Given the description of an element on the screen output the (x, y) to click on. 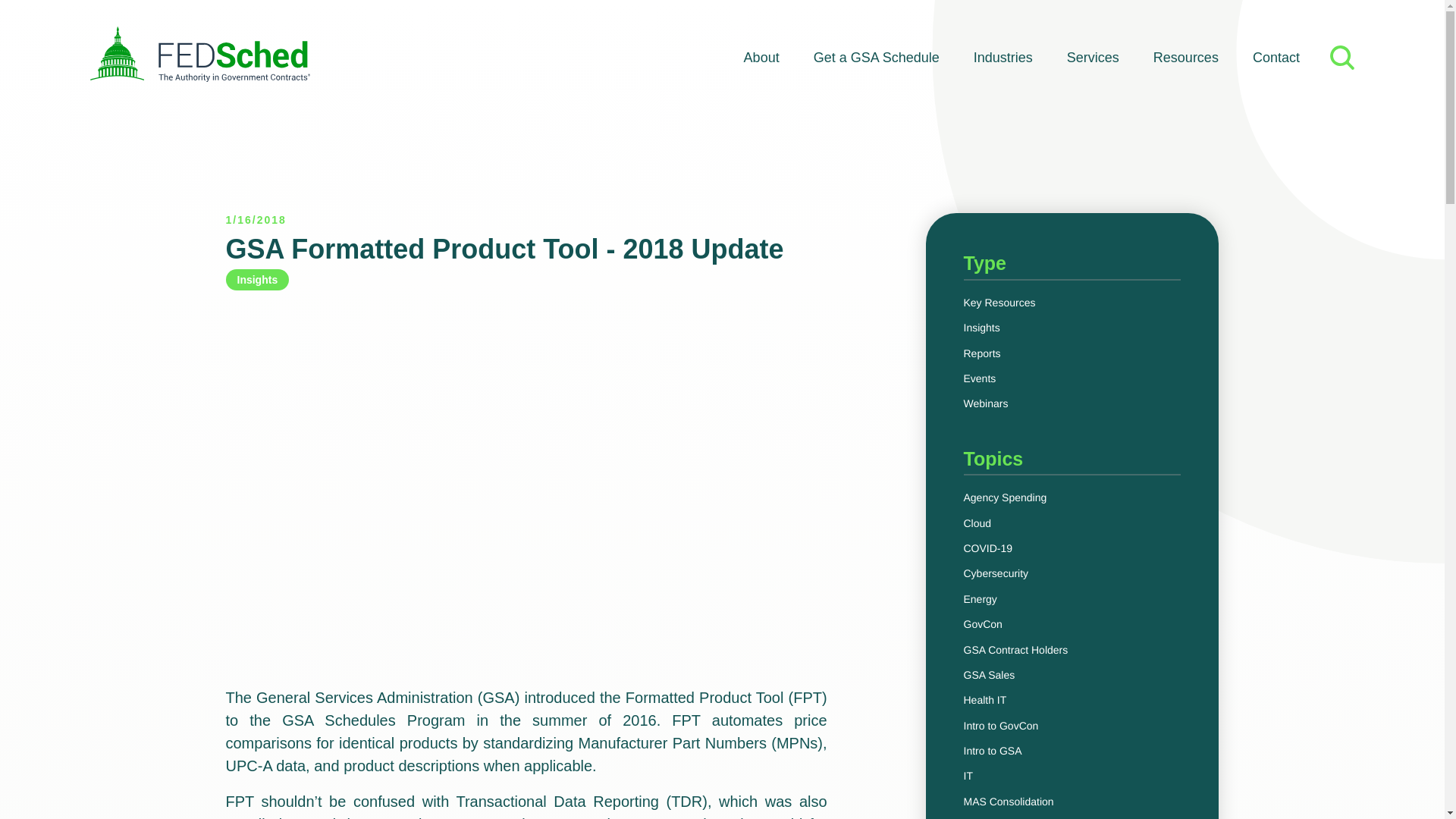
About FEDSched (761, 57)
Services Overview (1092, 57)
About (761, 57)
Services (1092, 57)
Industries Overview (1003, 57)
Resources Overview (1185, 57)
Contact (1275, 57)
Get a GSA Schedule (876, 57)
Get a GSA Schedule (876, 57)
Industries (1003, 57)
